Given the description of an element on the screen output the (x, y) to click on. 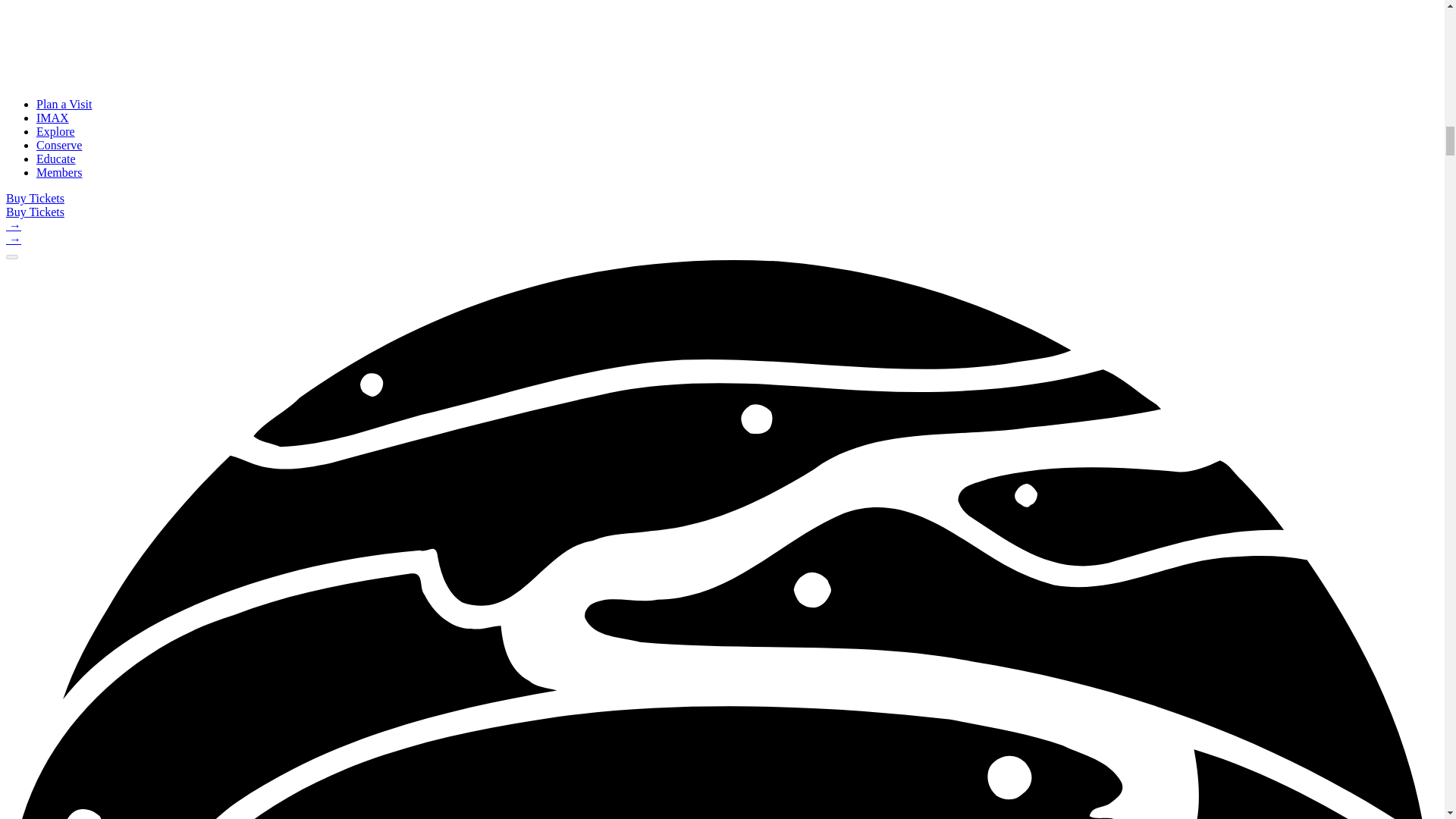
Members (58, 172)
Conserve (58, 144)
Educate (55, 158)
Plan a Visit (63, 103)
IMAX (52, 117)
Explore (55, 131)
